Given the description of an element on the screen output the (x, y) to click on. 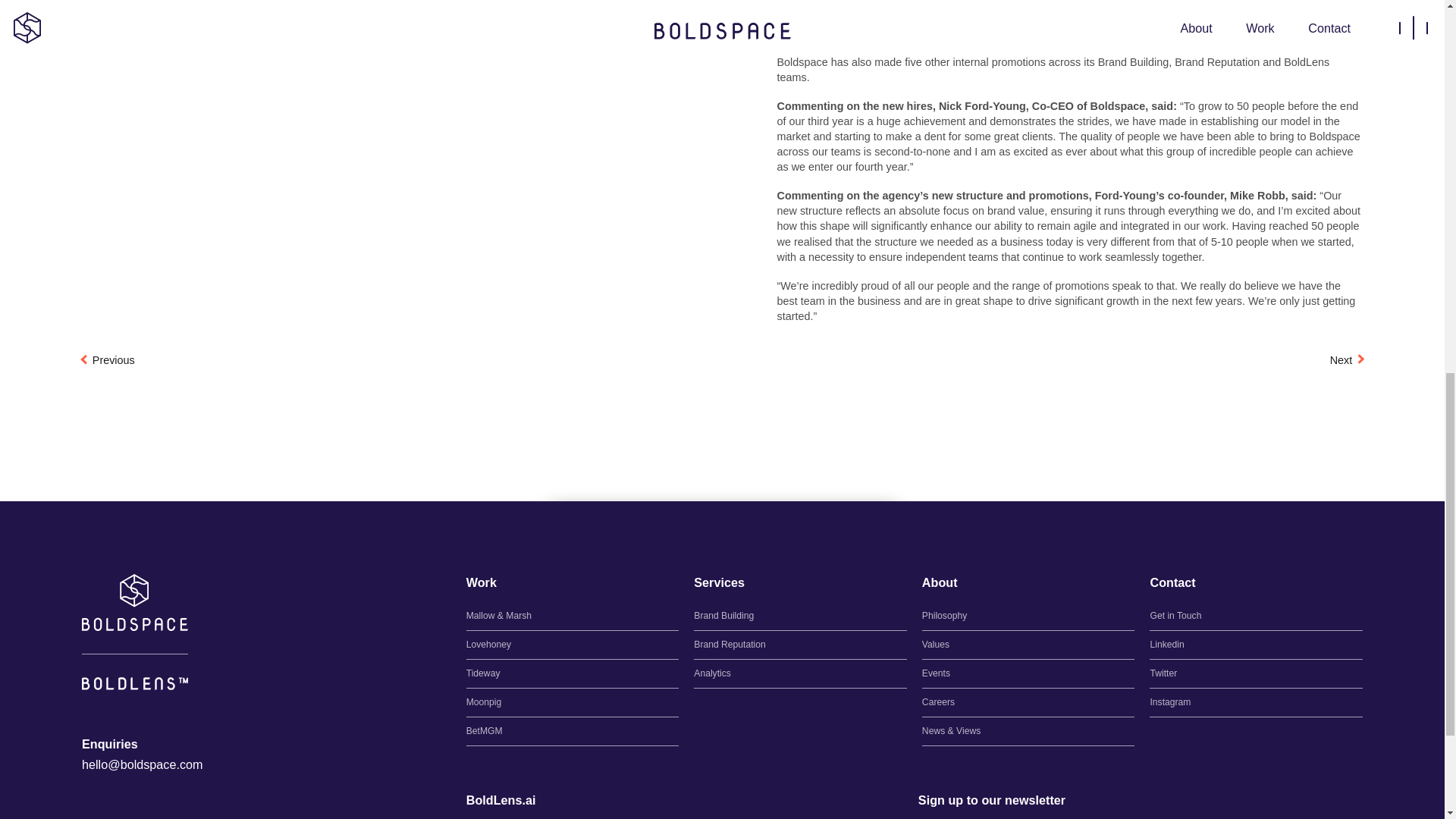
Work (480, 582)
Next (1346, 359)
BetMGM (572, 731)
Moonpig (572, 702)
Lovehoney (572, 644)
Brand Reputation (800, 644)
Tideway (572, 673)
Previous (108, 359)
Services (719, 582)
Brand Building (800, 615)
